Given the description of an element on the screen output the (x, y) to click on. 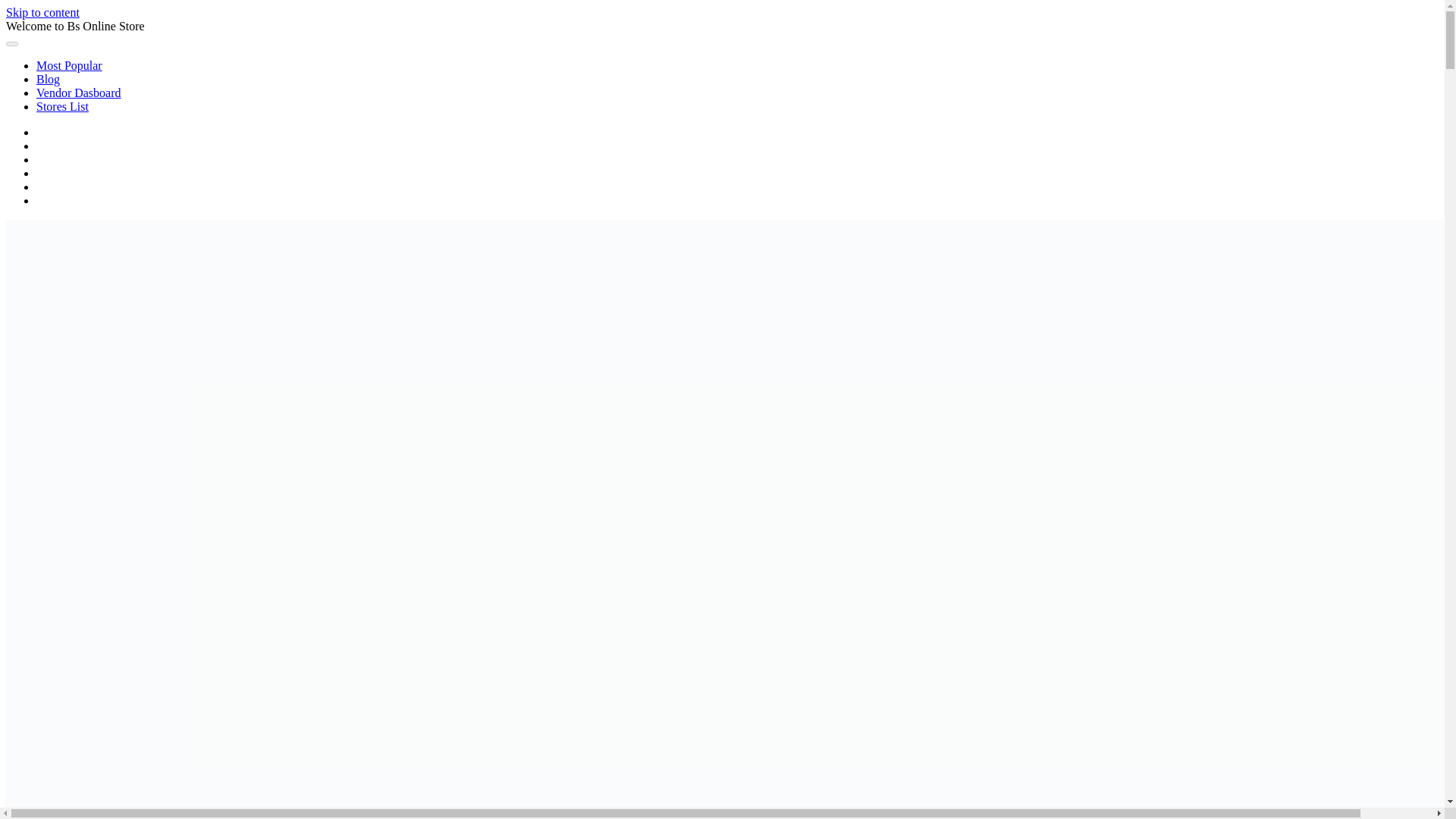
Skip to content (42, 11)
Vendor Dasboard (78, 92)
Most Popular (68, 65)
Blog (47, 78)
Stores List (62, 106)
